Given the description of an element on the screen output the (x, y) to click on. 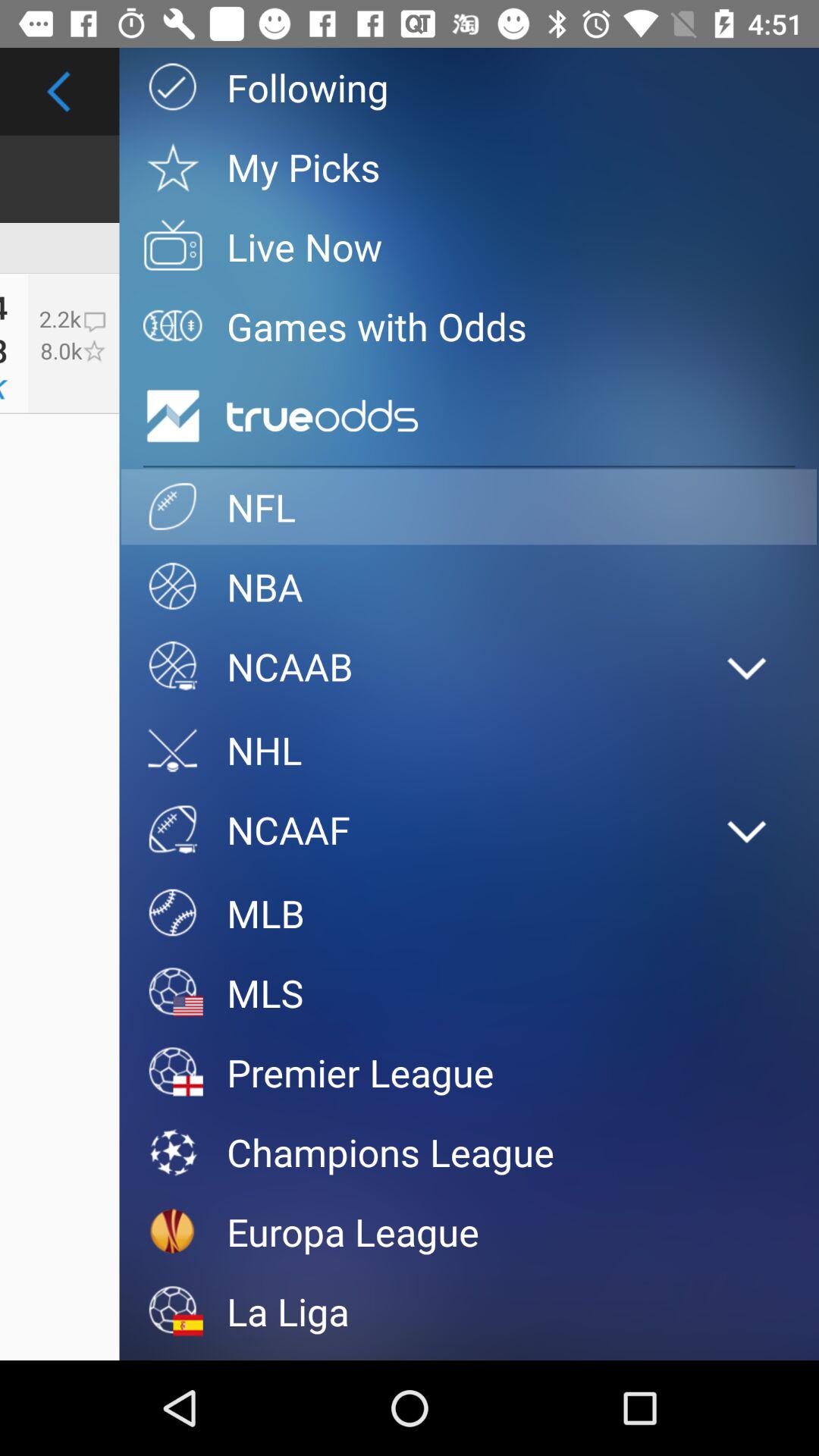
tap item above mls item (469, 913)
